Given the description of an element on the screen output the (x, y) to click on. 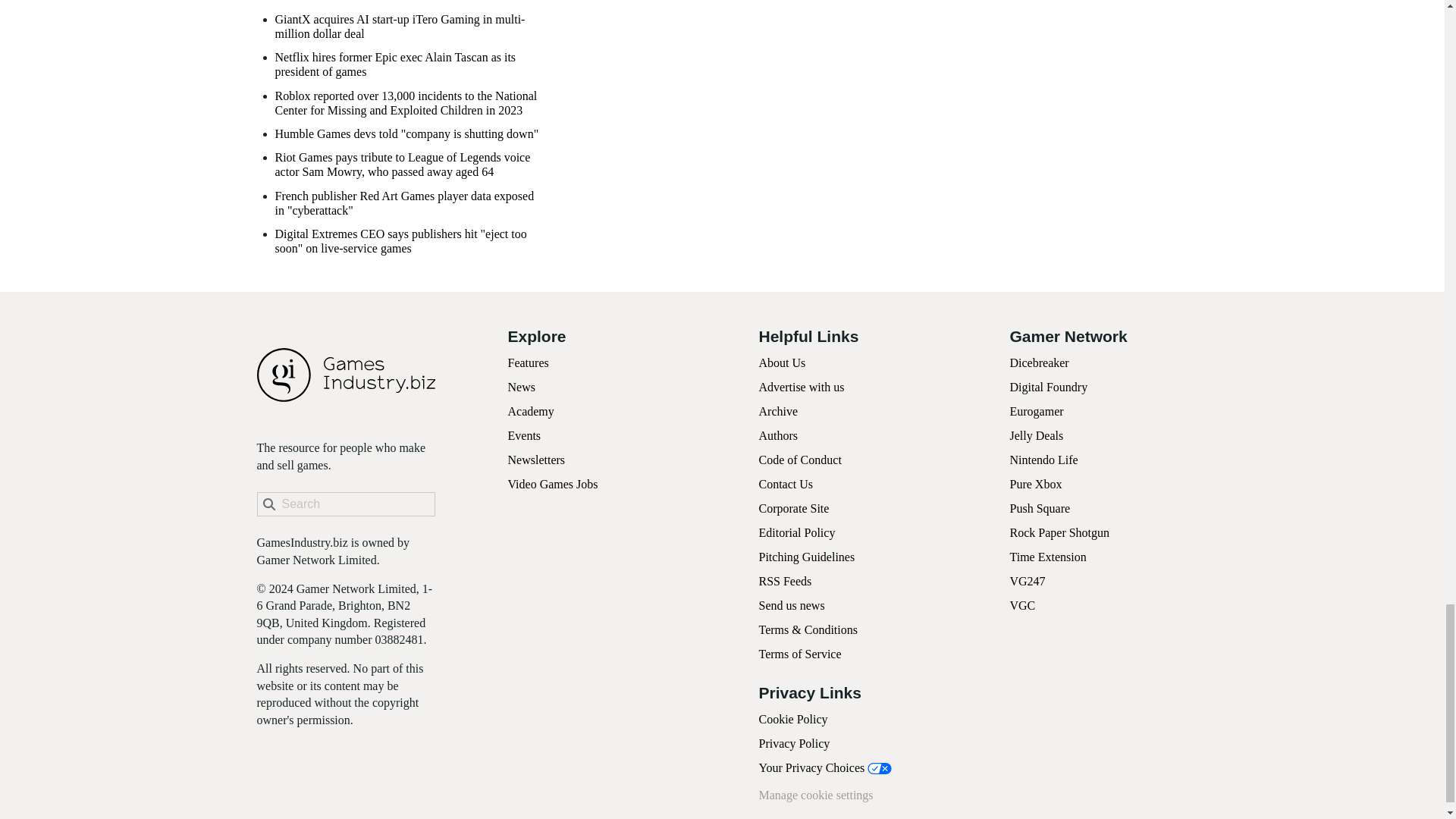
Features (528, 362)
Archive (777, 410)
Events (524, 435)
Newsletters (537, 459)
Video Games Jobs (553, 483)
Academy (531, 410)
Advertise with us (801, 386)
About Us (781, 362)
News (521, 386)
